Given the description of an element on the screen output the (x, y) to click on. 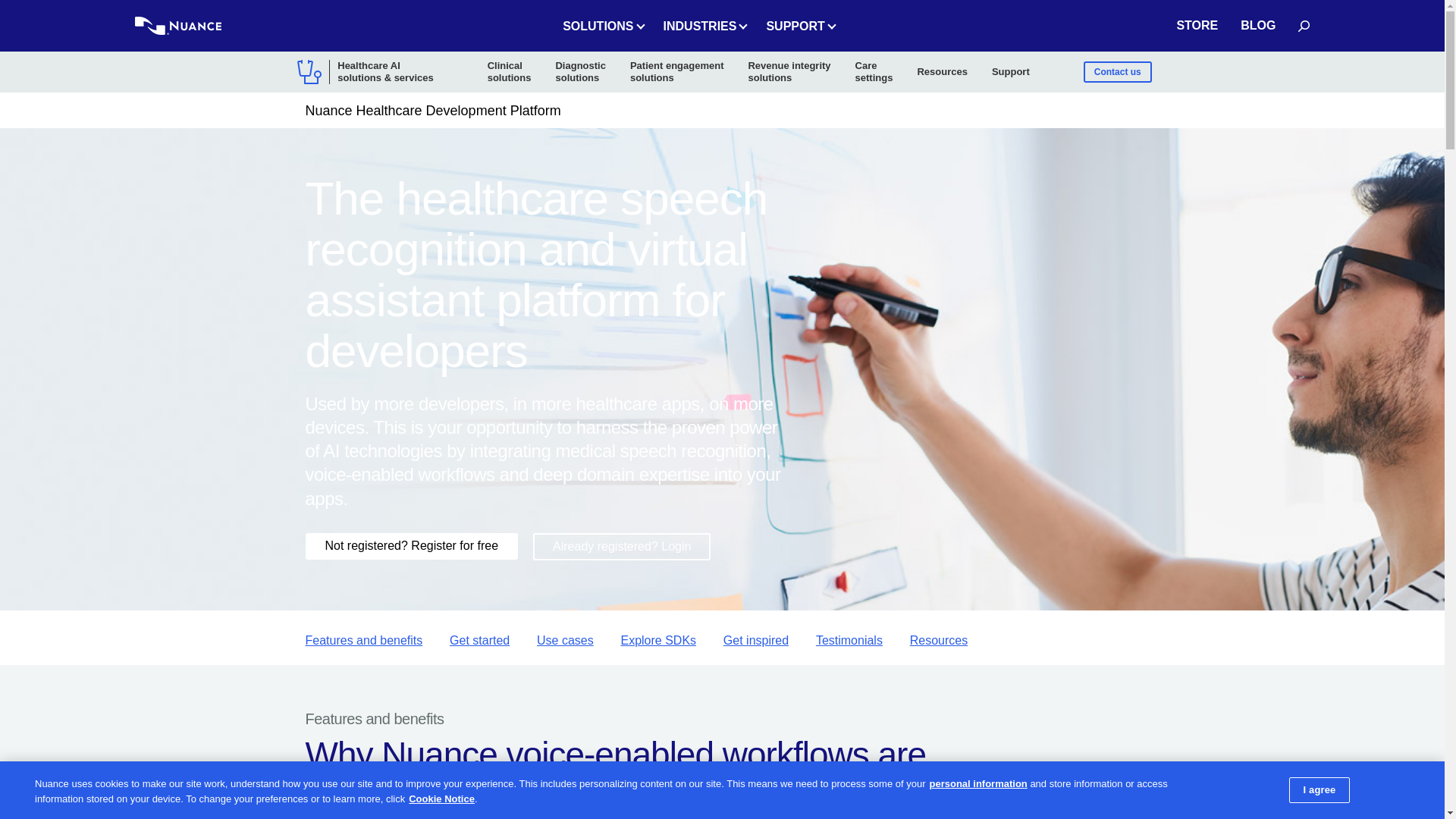
SOLUTIONS (600, 25)
SUPPORT (798, 25)
INDUSTRIES (702, 25)
